Given the description of an element on the screen output the (x, y) to click on. 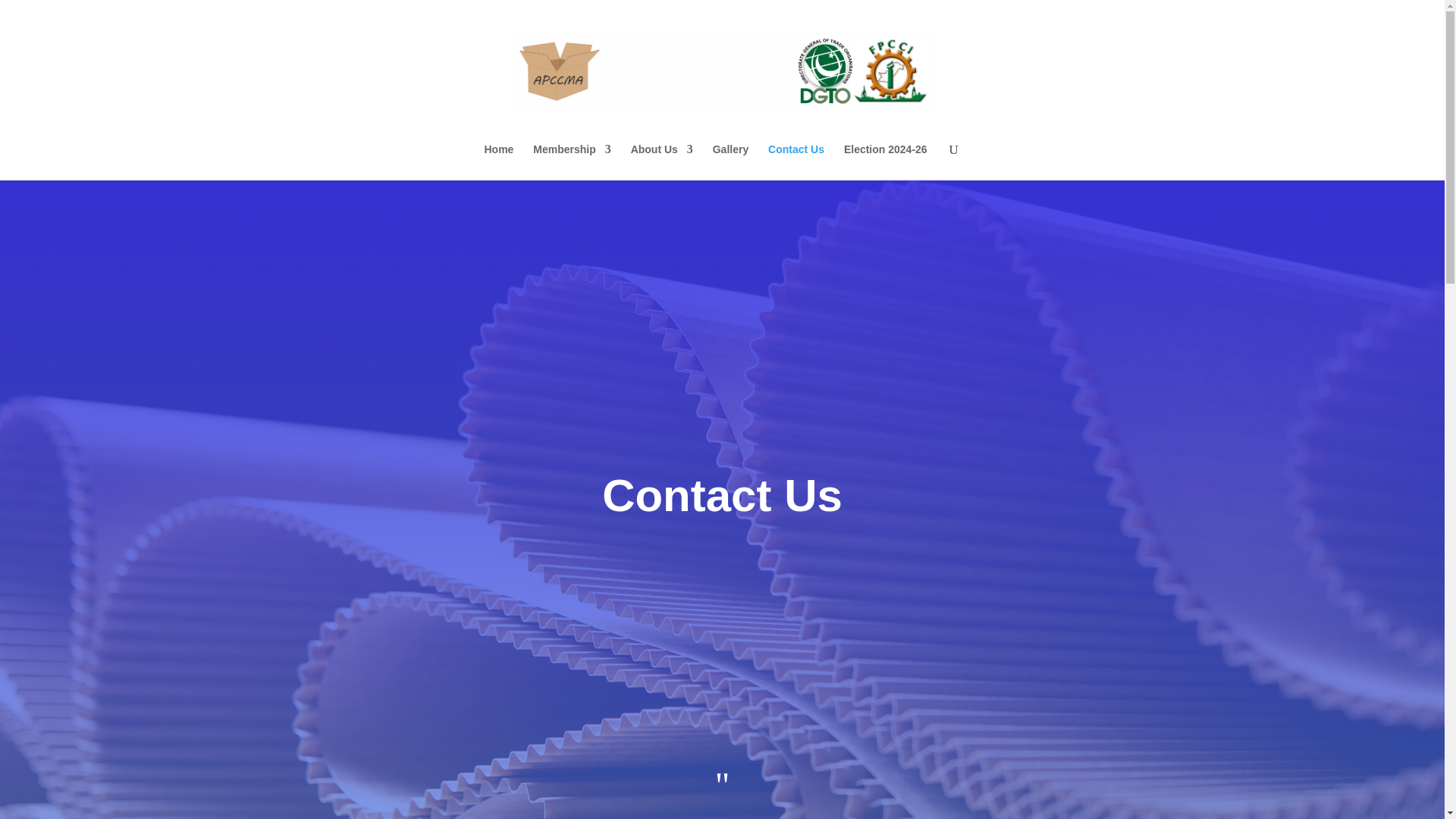
Gallery (730, 161)
Election 2024-26 (885, 161)
About Us (661, 161)
Contact Us (796, 161)
Membership (571, 161)
